Given the description of an element on the screen output the (x, y) to click on. 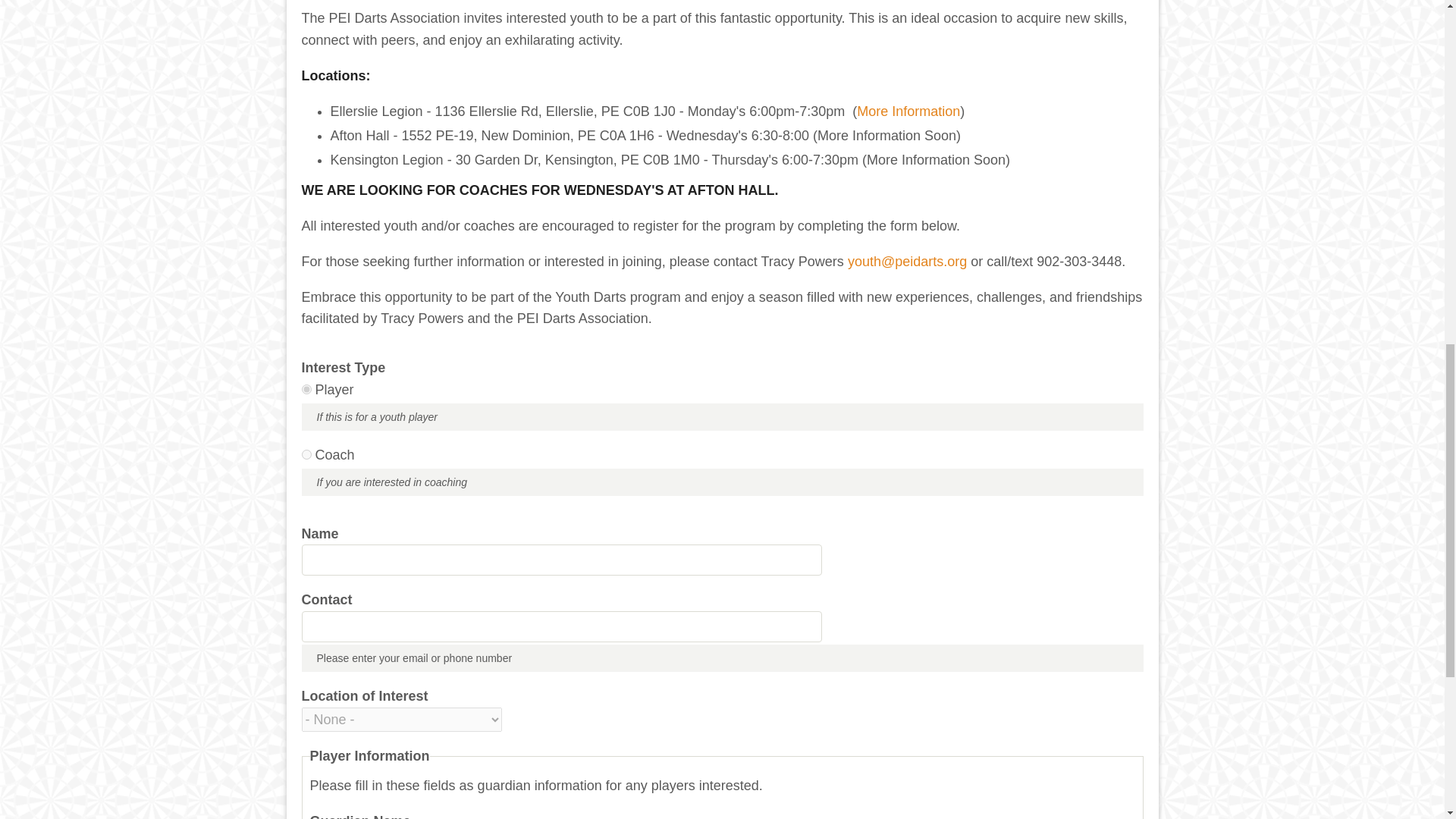
More Information (908, 111)
Coach (306, 454)
Player (306, 388)
